Given the description of an element on the screen output the (x, y) to click on. 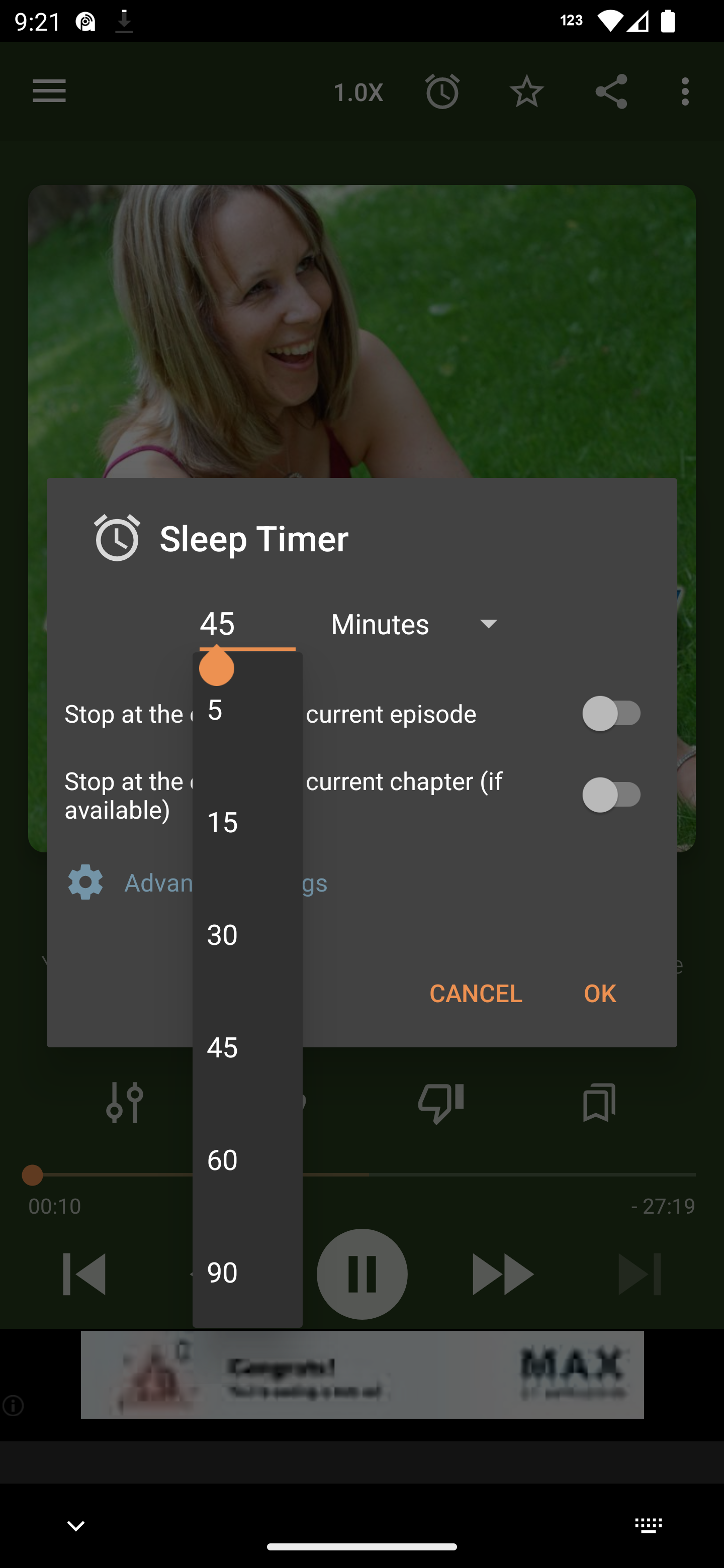
45 (247, 623)
Minutes (423, 623)
Stop at the end of the current episode (361, 712)
Advanced settings (391, 881)
CANCEL (475, 992)
OK (599, 992)
